Given the description of an element on the screen output the (x, y) to click on. 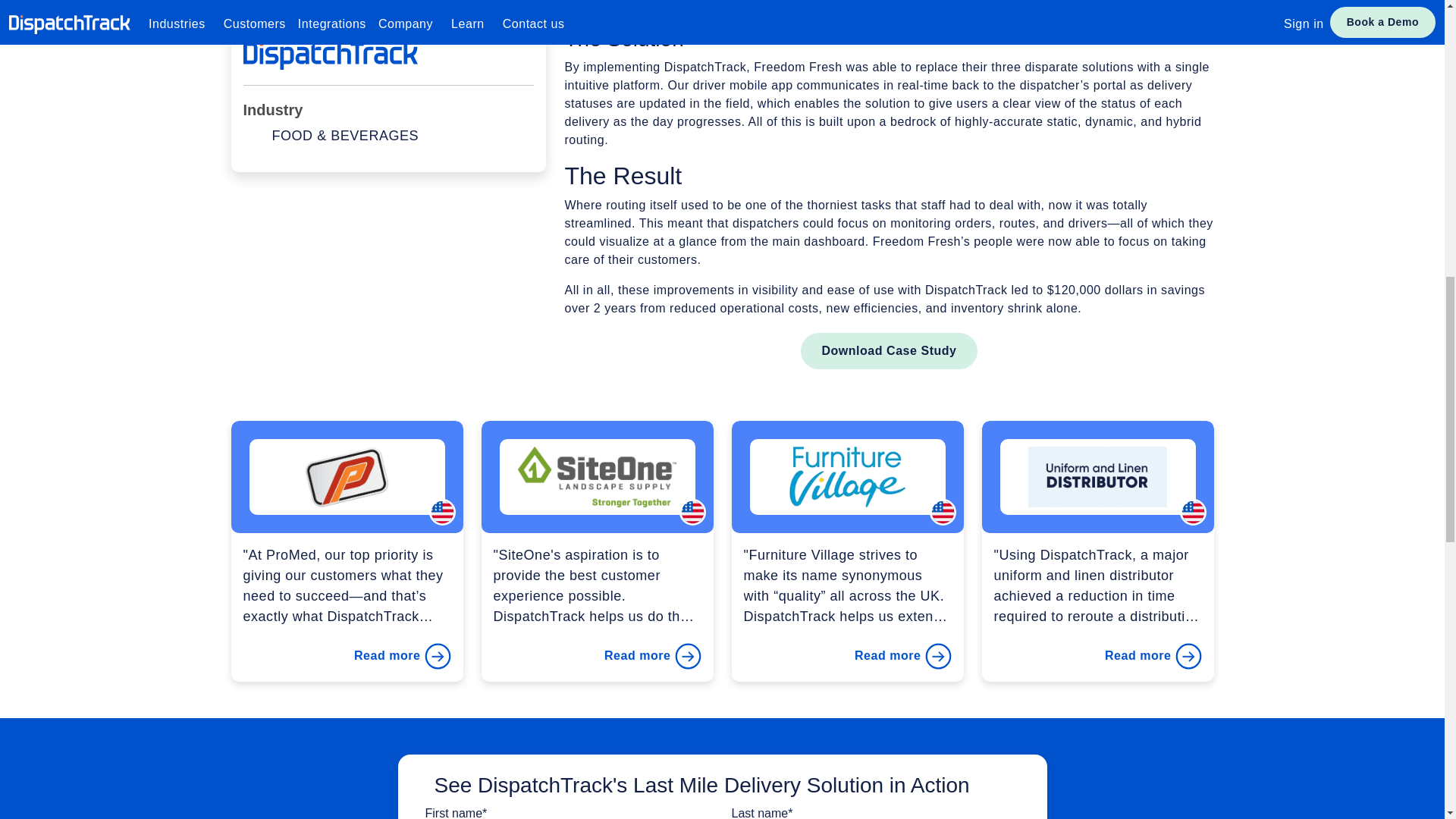
Download Case Study (888, 350)
Read more (401, 655)
Read more (902, 655)
Read more (652, 655)
Read more (1153, 655)
